Given the description of an element on the screen output the (x, y) to click on. 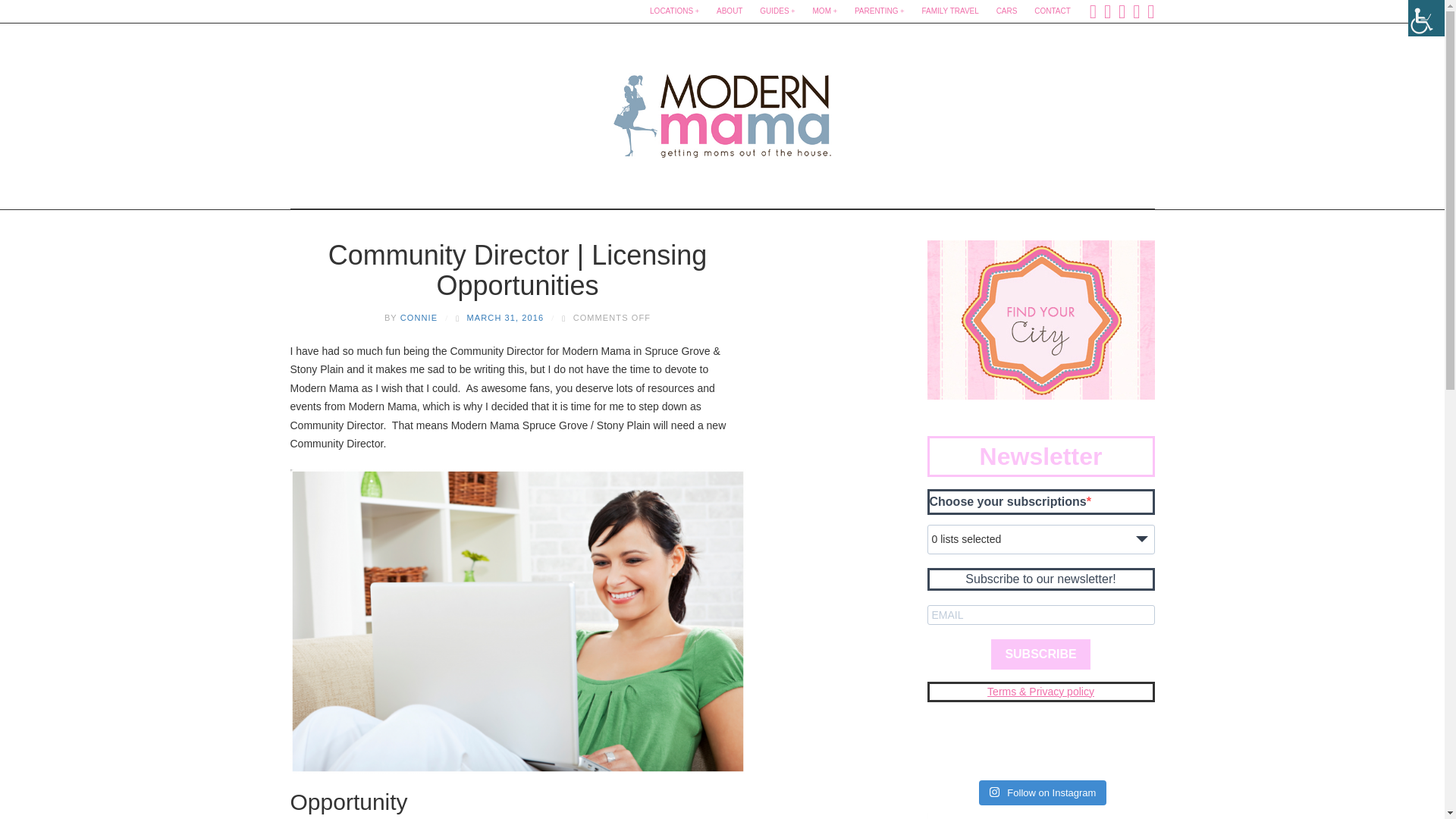
GUIDES (777, 11)
CONTACT (1052, 11)
CARS (1006, 11)
PARENTING (879, 11)
Modern Mama (722, 111)
FAMILY TRAVEL (949, 11)
View all posts by connie (419, 317)
LOCATIONS (674, 11)
MOM (825, 11)
CONNIE (419, 317)
